Given the description of an element on the screen output the (x, y) to click on. 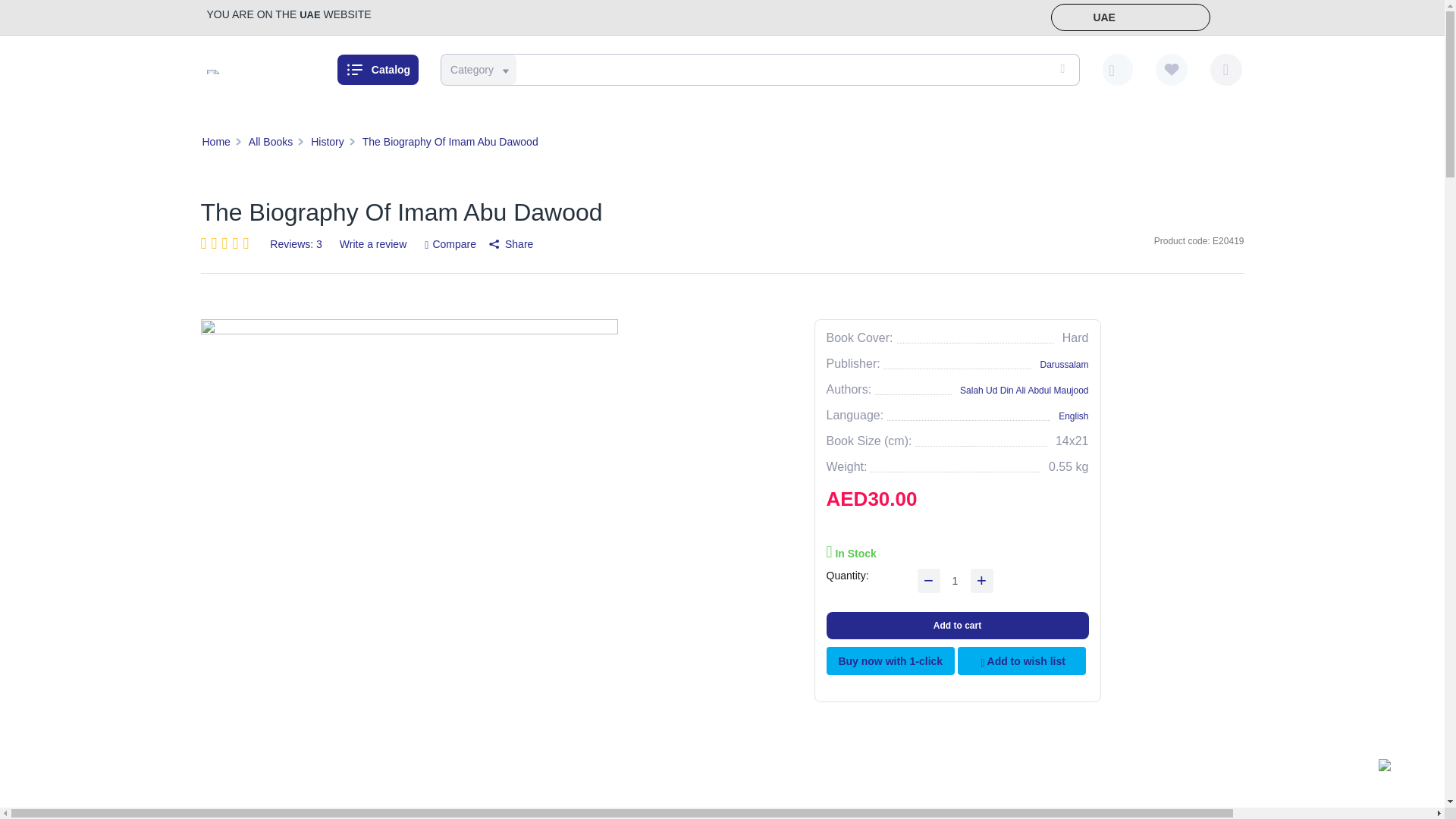
Close (1224, 18)
1 (955, 580)
Search products (757, 69)
UAE (1130, 17)
Add to comparison list (450, 243)
Darussalam Publishers (212, 70)
Close (1224, 18)
Add to wish list (1022, 660)
Write a review (373, 244)
Search (1060, 69)
